Given the description of an element on the screen output the (x, y) to click on. 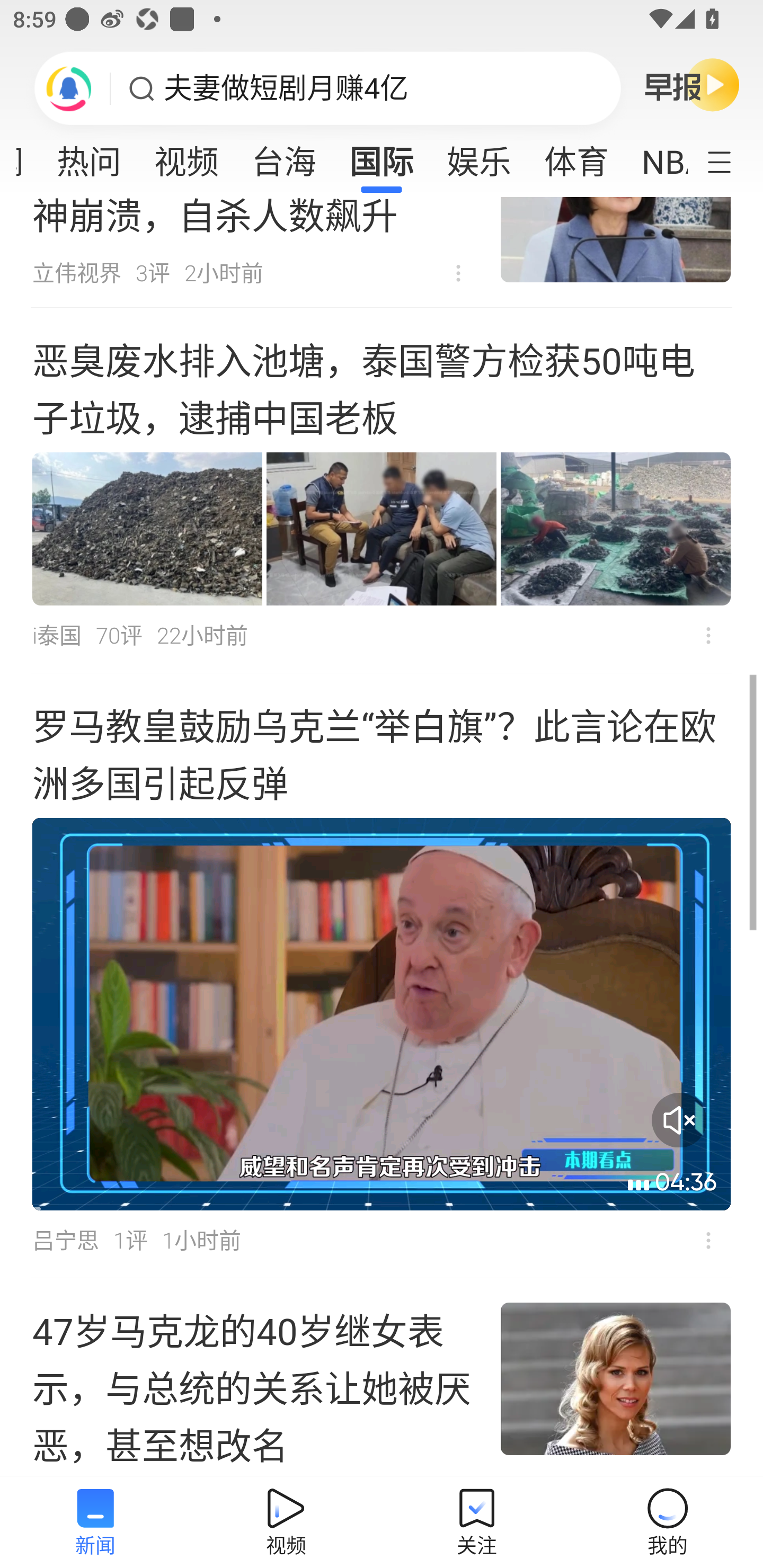
早晚报 (691, 84)
刷新 (68, 88)
夫妻做短剧月赚4亿 (286, 88)
热问 (89, 155)
视频 (186, 155)
台海 (283, 155)
国际 (381, 155)
娱乐 (478, 155)
体育 (575, 155)
NBA (655, 155)
 定制频道 (731, 160)
 不感兴趣 (458, 273)
 不感兴趣 (707, 635)
音量开关 (678, 1119)
 不感兴趣 (707, 1240)
47岁马克龙的40岁继女表示，与总统的关系让她被厌恶，甚至想改名 (381, 1377)
